Given the description of an element on the screen output the (x, y) to click on. 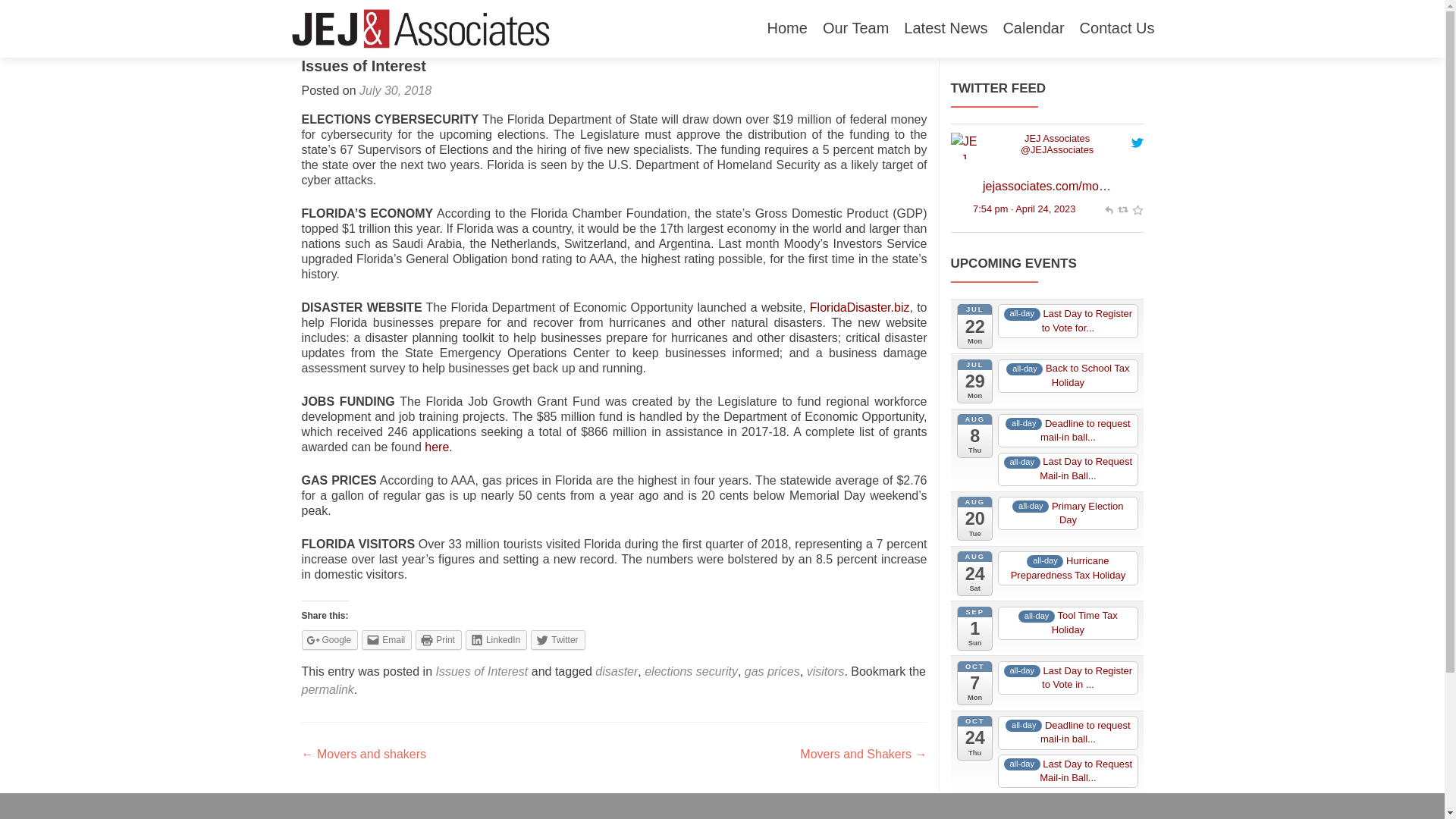
gas prices (771, 671)
Email (386, 639)
Latest News (945, 28)
JEJ Associates (963, 144)
permalink (327, 689)
disaster (616, 671)
here. (438, 446)
JEJ Associates (1057, 138)
reply (1107, 208)
FloridaDisaster.biz (859, 307)
LinkedIn (496, 639)
Contact Us (1117, 28)
Click to print (437, 639)
Google (329, 639)
elections security (691, 671)
